Given the description of an element on the screen output the (x, y) to click on. 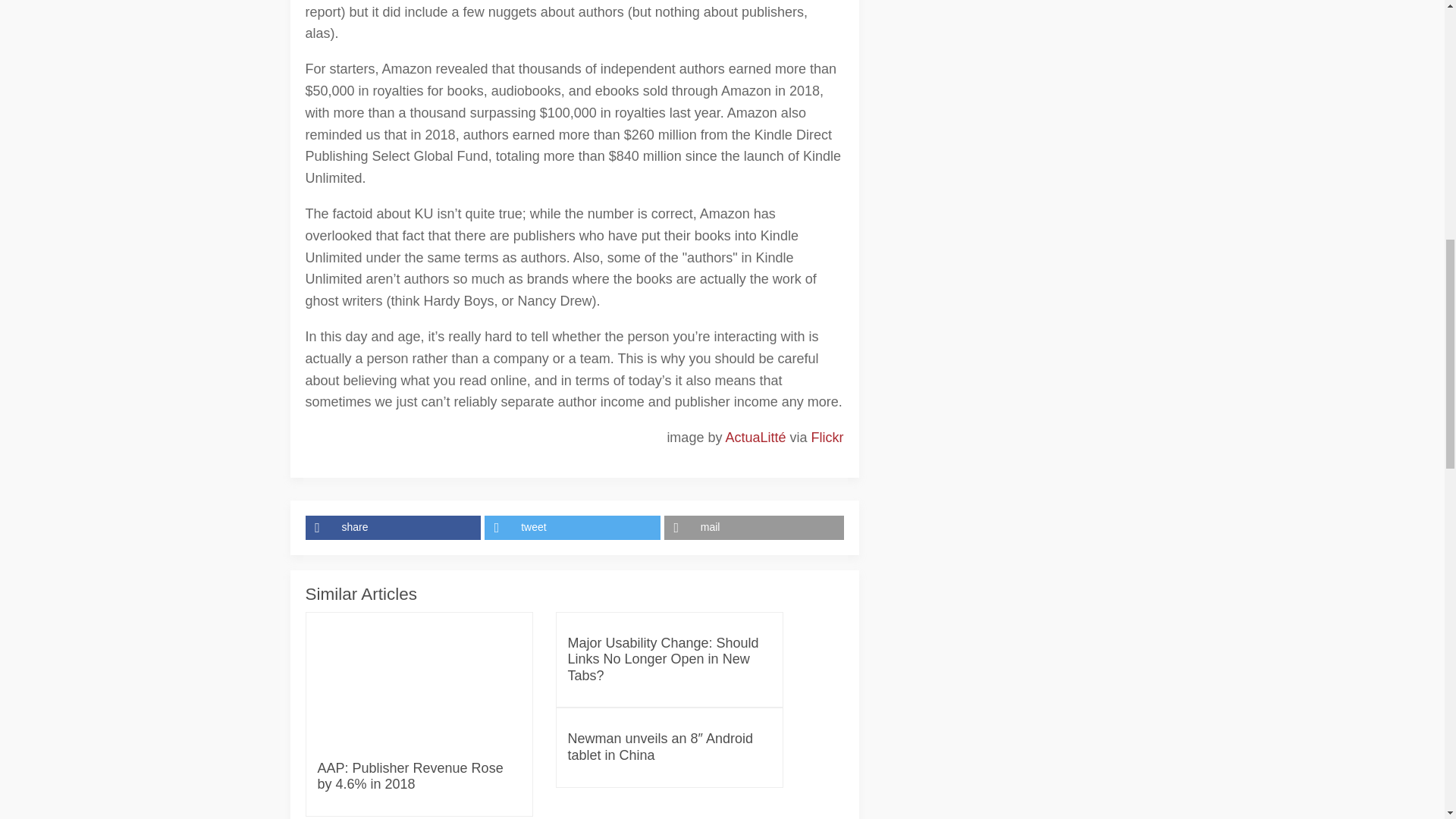
Flickr (827, 437)
share (394, 527)
tweet (573, 527)
mail (753, 527)
